Given the description of an element on the screen output the (x, y) to click on. 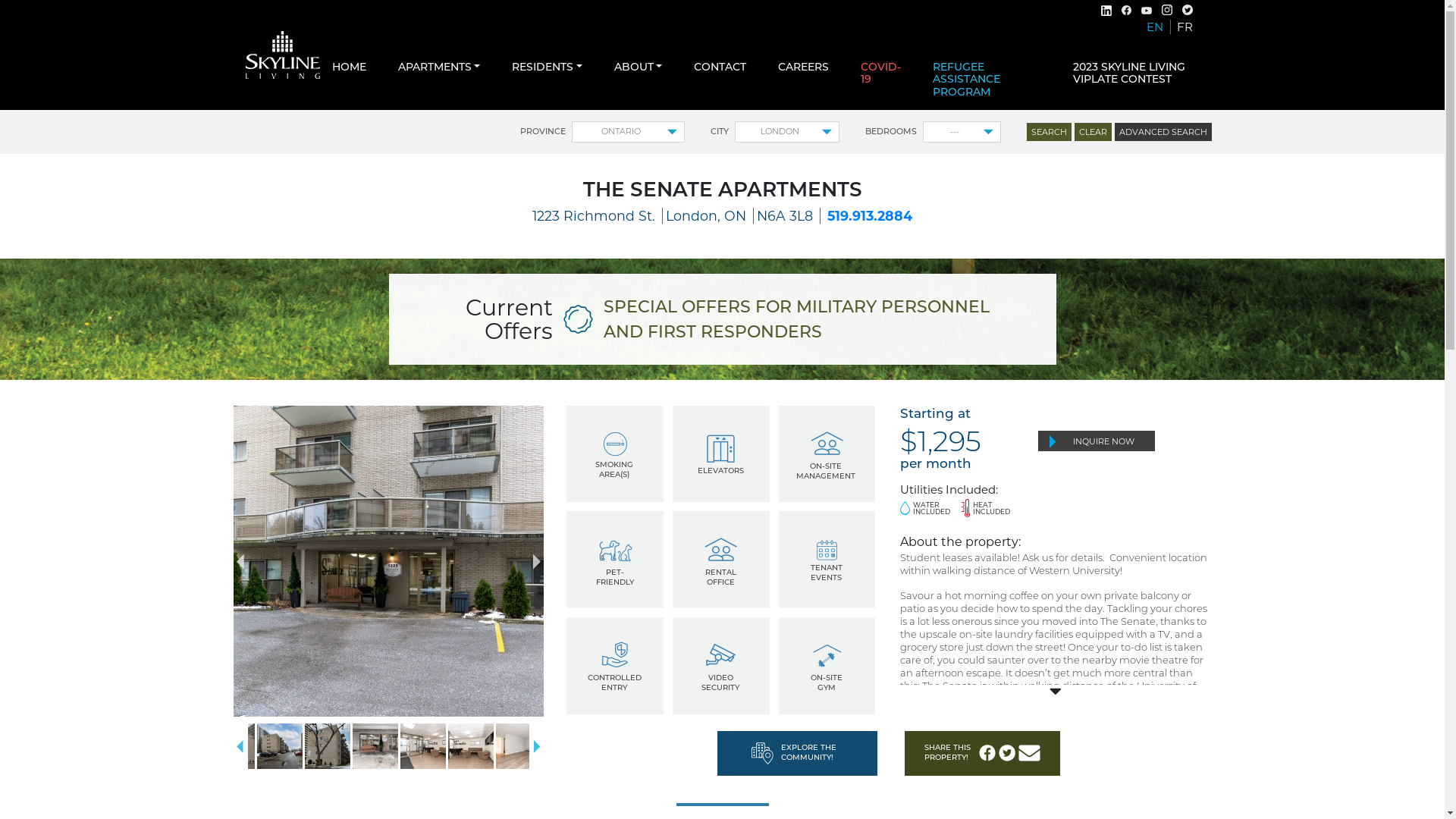
ADVANCED SEARCH Element type: text (1162, 131)
HOME Element type: text (349, 66)
CAREERS Element type: text (803, 66)
SHARE THIS PROPERTY! Element type: text (982, 753)
ABOUT Element type: text (638, 66)
EXPLORE THE
COMMUNITY! Element type: text (797, 753)
SEARCH Element type: text (1048, 131)
INQUIRE NOW Element type: text (1096, 440)
REFUGEE ASSISTANCE PROGRAM Element type: text (986, 79)
Previous Element type: text (239, 745)
CLEAR Element type: text (1091, 131)
2023 SKYLINE LIVING VIPLATE CONTEST Element type: text (1136, 73)
APARTMENTS Element type: text (438, 66)
RESIDENTS Element type: text (546, 66)
Next Element type: text (536, 560)
FR Element type: text (1184, 26)
Next Element type: text (536, 745)
EN Element type: text (1158, 26)
519.913.2884 Element type: text (869, 215)
COVID-19 Element type: text (880, 73)
CONTACT Element type: text (719, 66)
Previous Element type: text (239, 560)
